Given the description of an element on the screen output the (x, y) to click on. 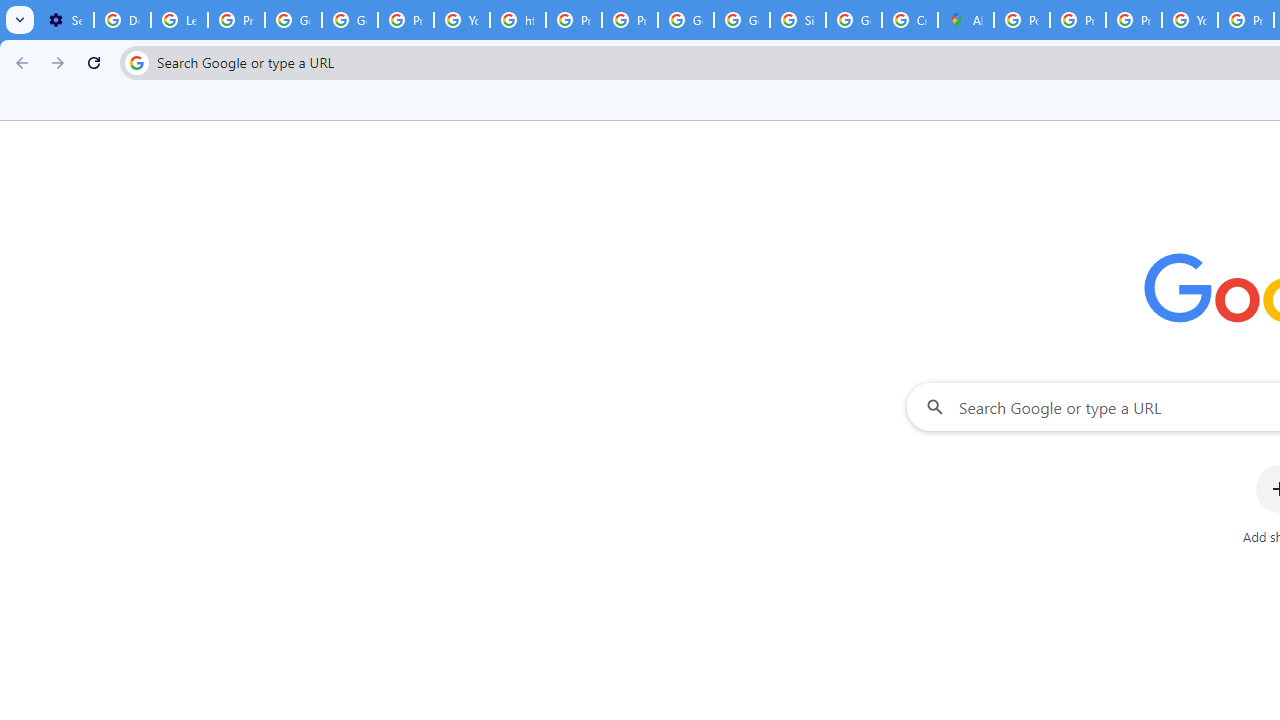
YouTube (1190, 20)
Google Account Help (293, 20)
Delete photos & videos - Computer - Google Photos Help (122, 20)
Create your Google Account (909, 20)
YouTube (461, 20)
Privacy Help Center - Policies Help (1133, 20)
Sign in - Google Accounts (797, 20)
